Given the description of an element on the screen output the (x, y) to click on. 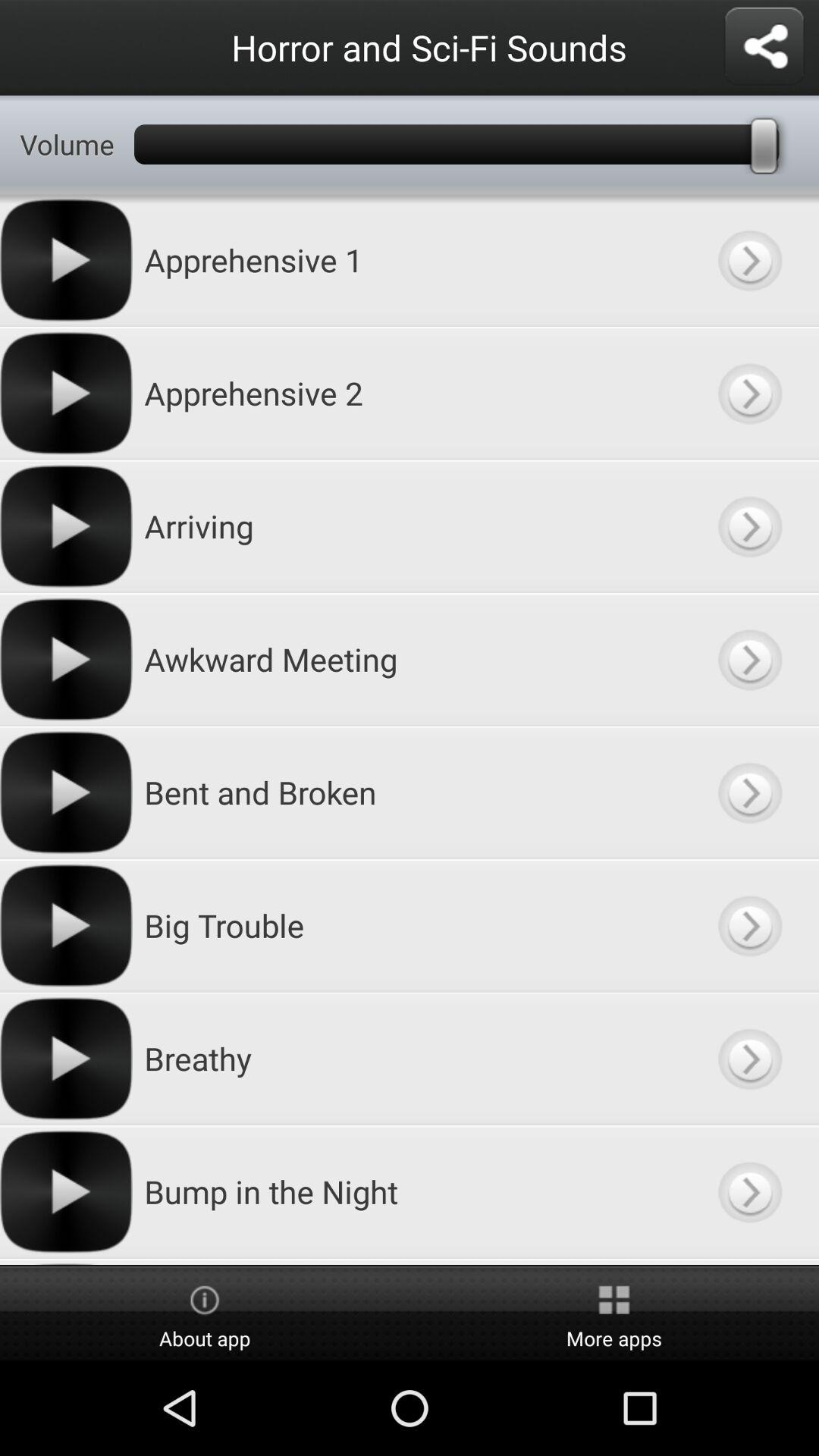
play button (749, 1191)
